Given the description of an element on the screen output the (x, y) to click on. 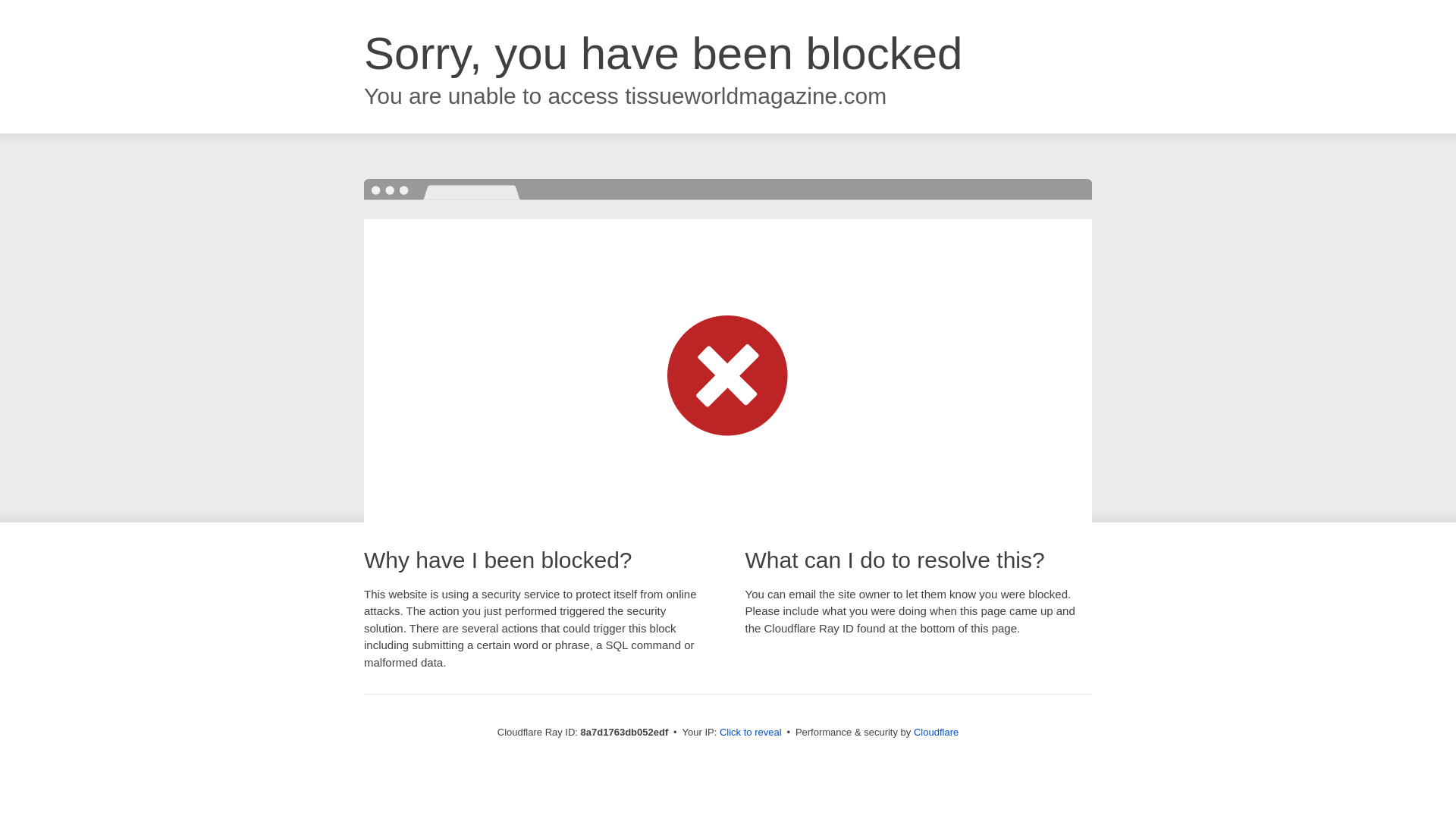
Cloudflare (936, 731)
Click to reveal (750, 732)
